Given the description of an element on the screen output the (x, y) to click on. 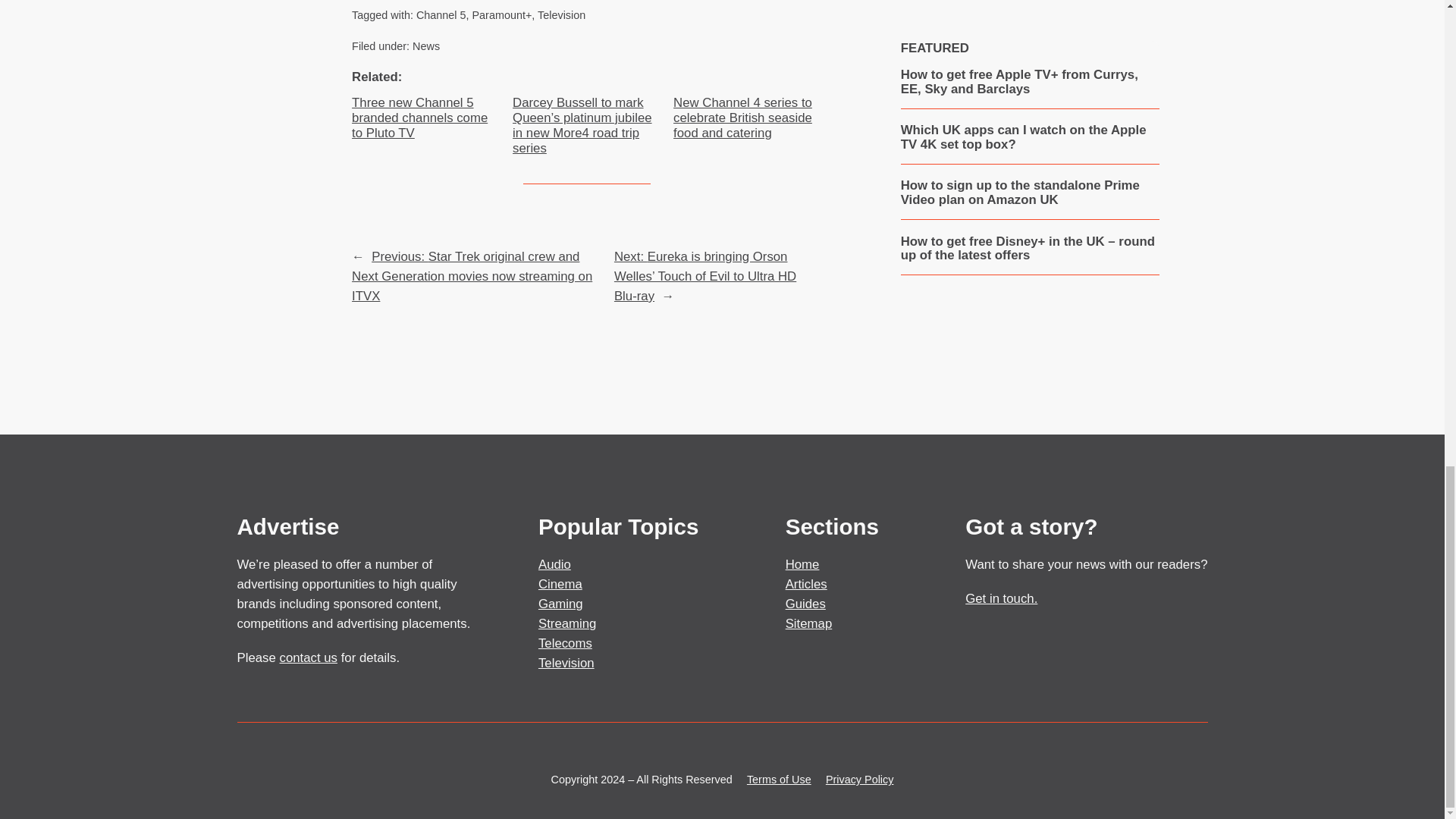
Television (561, 15)
Guides (805, 603)
contact us (308, 657)
Cinema (560, 584)
Sitemap (809, 623)
Channel 5 (440, 15)
Television (566, 663)
Home (802, 564)
